Given the description of an element on the screen output the (x, y) to click on. 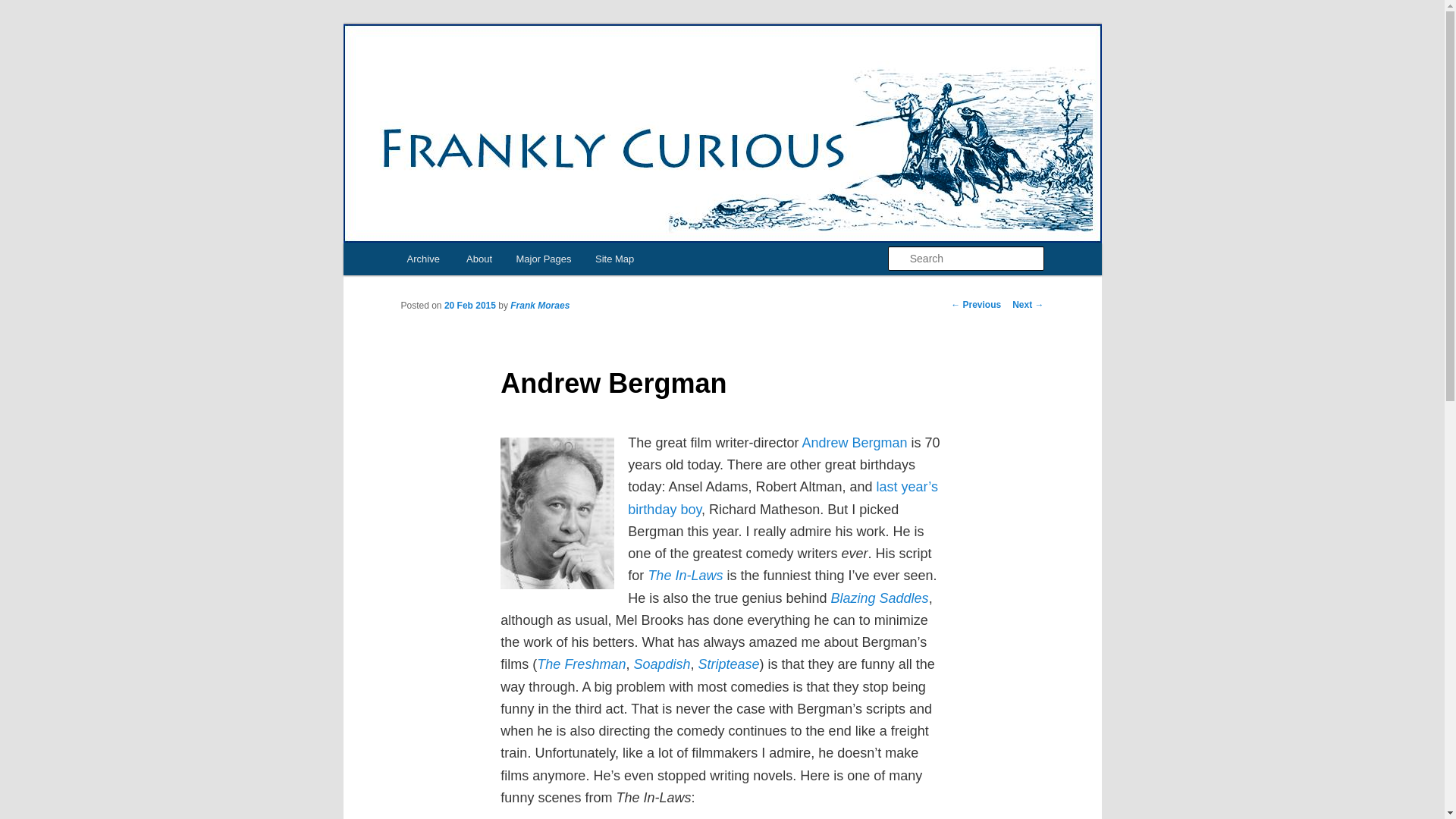
Major Pages (543, 258)
View all posts by Frank Moraes (540, 305)
The In-Laws (684, 575)
Search (24, 8)
About (478, 258)
Archive (423, 258)
Frank Moraes (540, 305)
Soapdish (661, 663)
 Archive  (423, 258)
Site Map (614, 258)
